Given the description of an element on the screen output the (x, y) to click on. 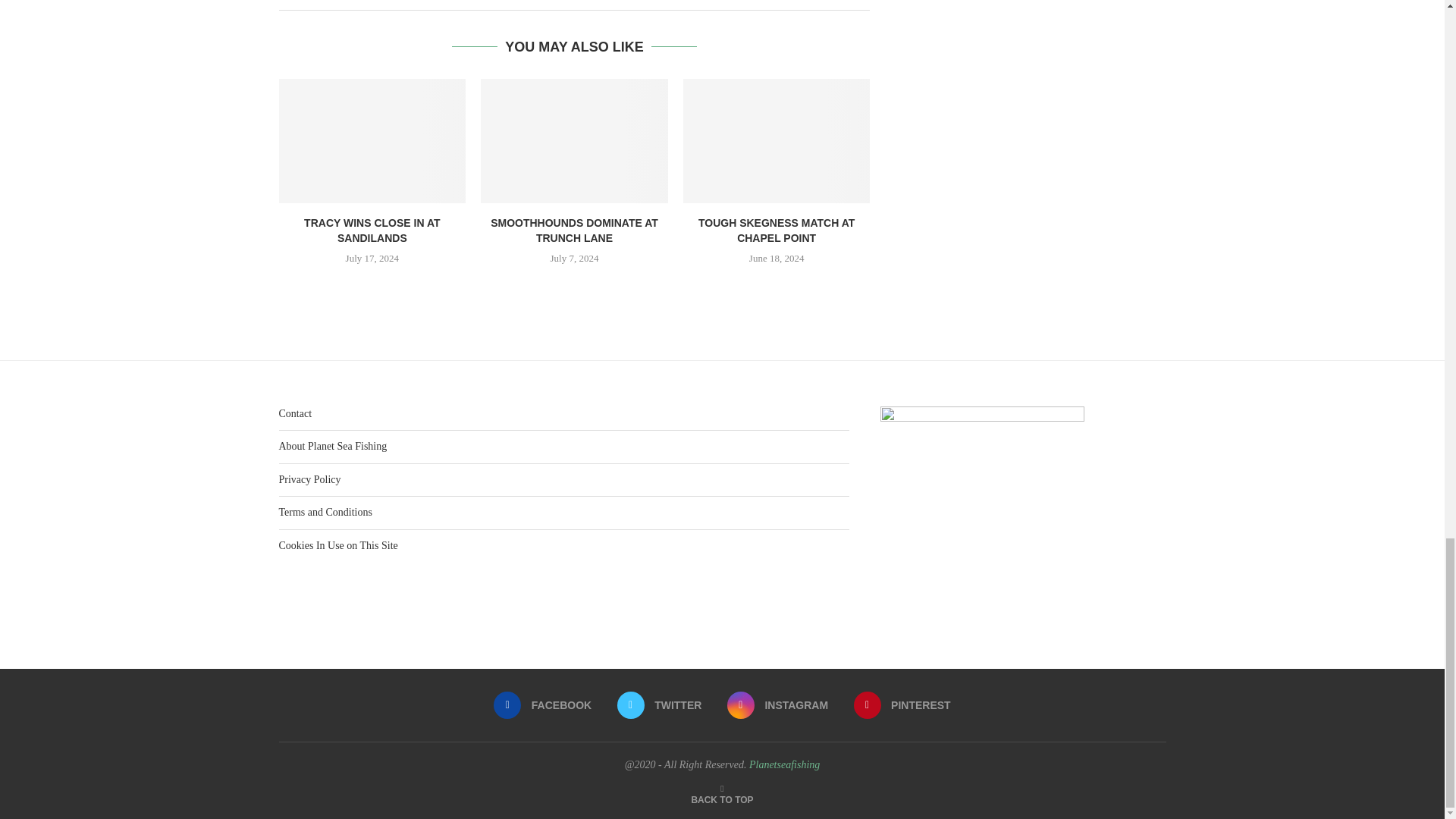
Smoothhounds Dominate At Trunch Lane (574, 140)
Tough Skegness Match At Chapel Point (776, 140)
Tracy Wins Close In At Sandilands (372, 140)
